Given the description of an element on the screen output the (x, y) to click on. 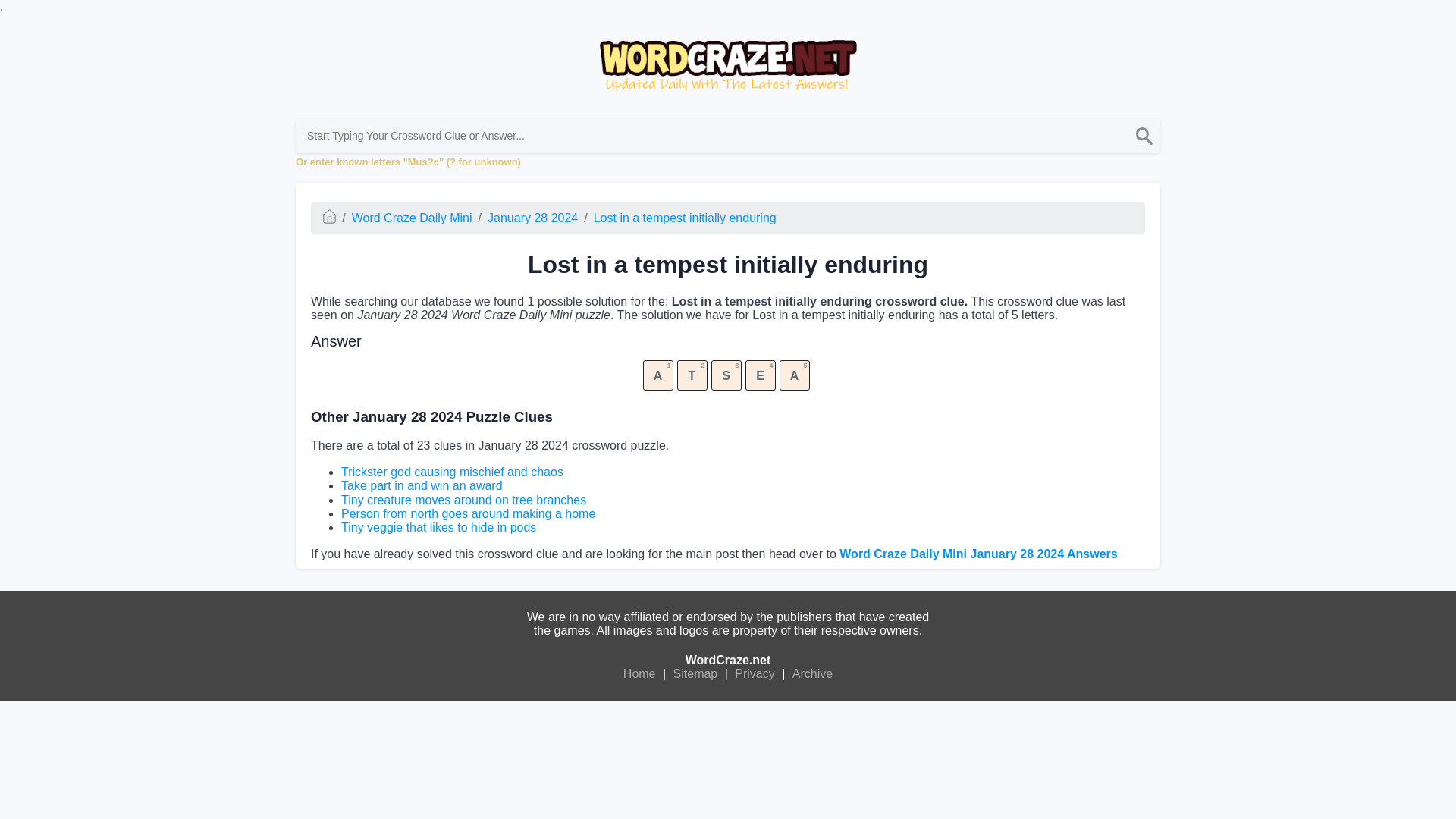
WordCraze.net (728, 659)
Home (639, 673)
Sitemap (695, 673)
Archive (812, 673)
Word Craze Daily Mini (411, 217)
Trickster god causing mischief and chaos (451, 472)
Tiny veggie that likes to hide in pods (437, 526)
January 28 2024 (532, 217)
Person from north goes around making a home (467, 513)
Privacy (753, 673)
Word Craze Daily Mini January 28 2024 Answers (978, 553)
Take part in and win an award (421, 485)
Tiny creature moves around on tree branches (463, 499)
Lost in a tempest initially enduring (685, 217)
